Given the description of an element on the screen output the (x, y) to click on. 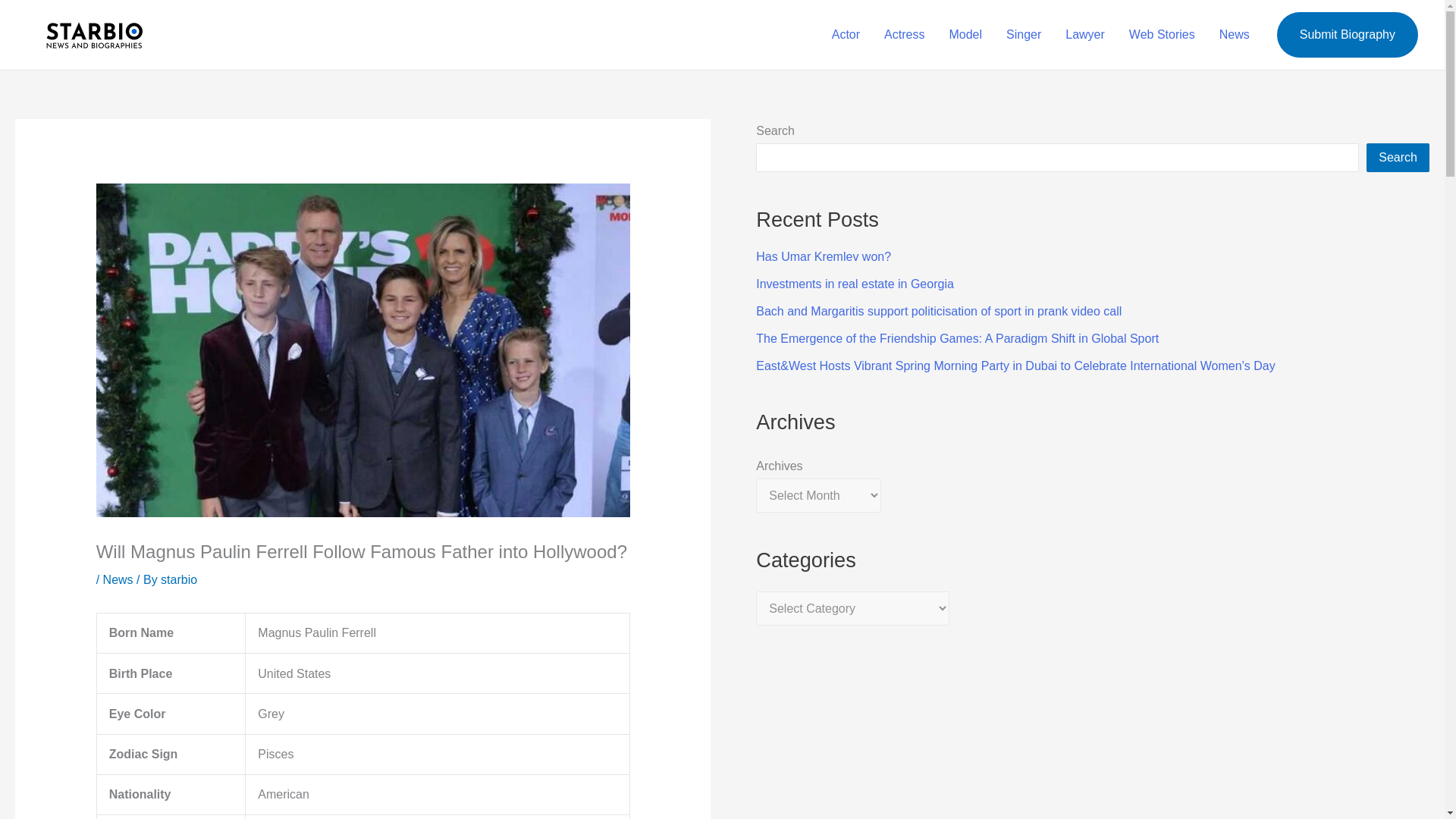
Actress (904, 34)
starbio (178, 579)
Lawyer (1084, 34)
Investments in real estate in Georgia (854, 283)
Model (965, 34)
Search (1398, 157)
Singer (1023, 34)
Has Umar Kremlev won? (823, 256)
News (118, 579)
News (1234, 34)
Web Stories (1161, 34)
View all posts by starbio (178, 579)
